Given the description of an element on the screen output the (x, y) to click on. 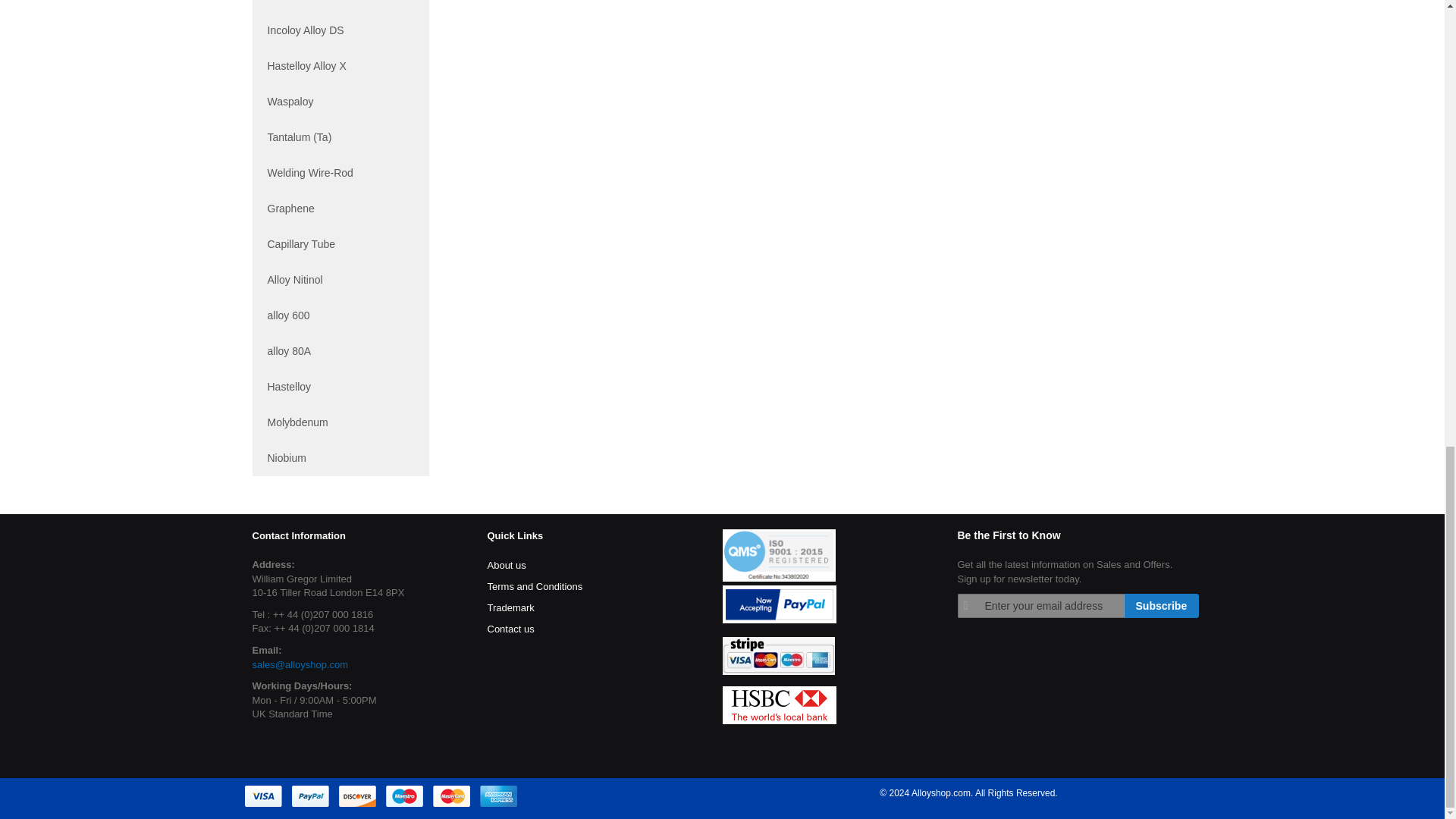
Subscribe (1161, 605)
Secure Online payment (380, 795)
Contact us (510, 628)
Terms and Conditions (534, 586)
Trademark (510, 607)
About us (505, 565)
ST (778, 654)
